Given the description of an element on the screen output the (x, y) to click on. 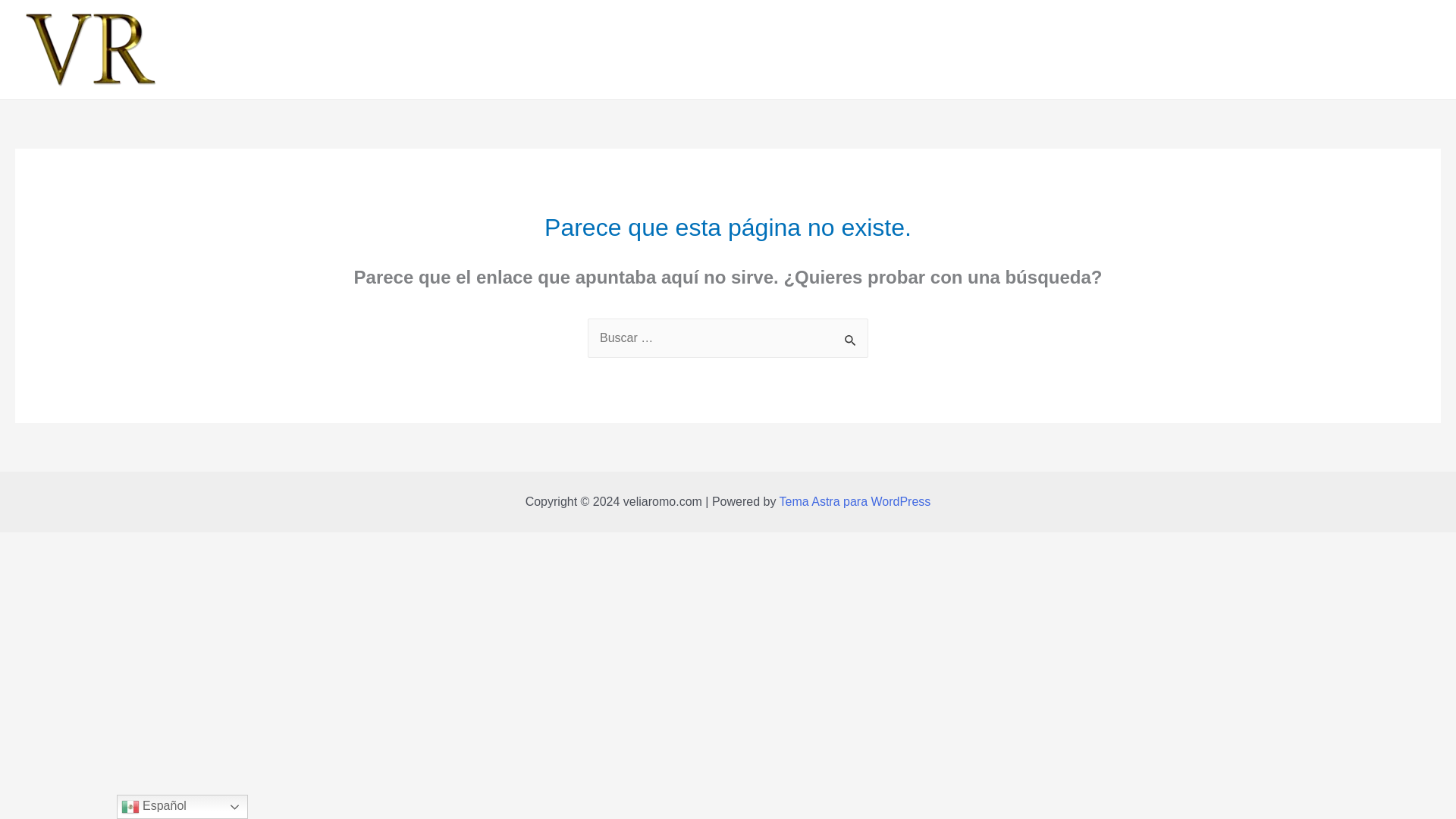
Tema Astra para WordPress (854, 501)
Servicios (743, 49)
Inicio (608, 49)
Nosotros (670, 49)
